Given the description of an element on the screen output the (x, y) to click on. 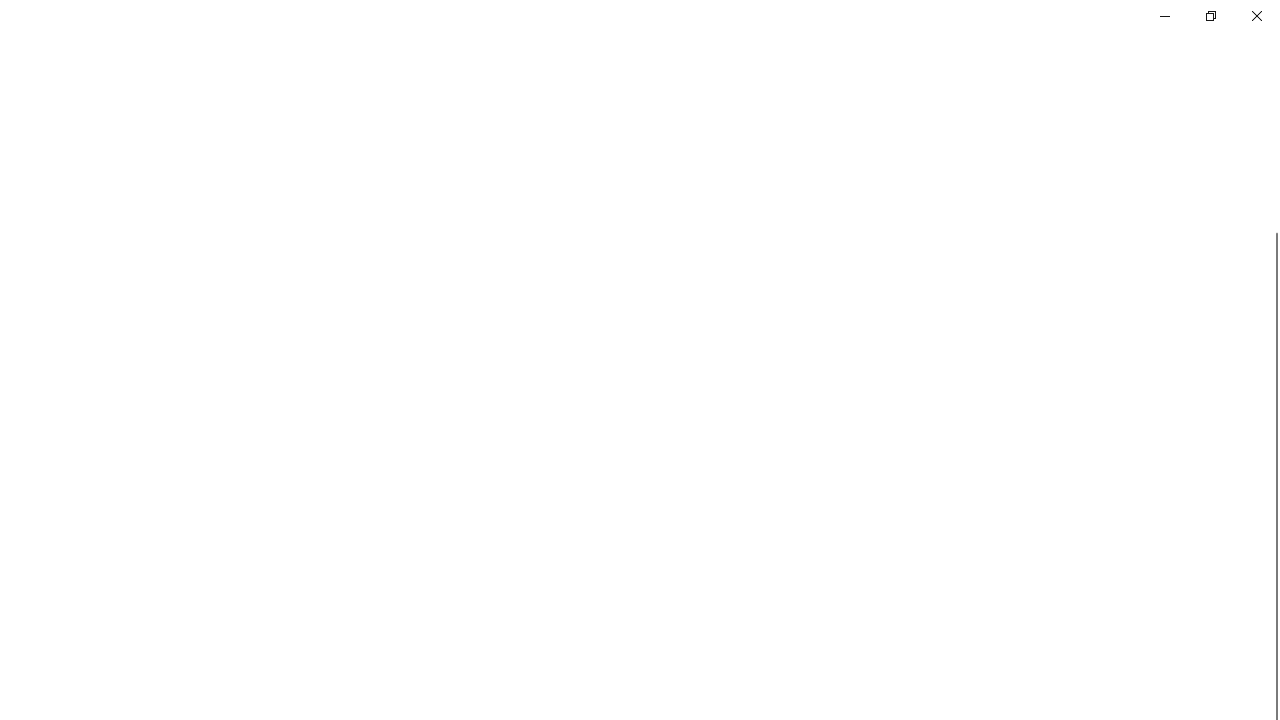
Give feedback (1091, 2)
Vertical Large Decrease (1272, 172)
Vertical Small Decrease (1272, 103)
